Given the description of an element on the screen output the (x, y) to click on. 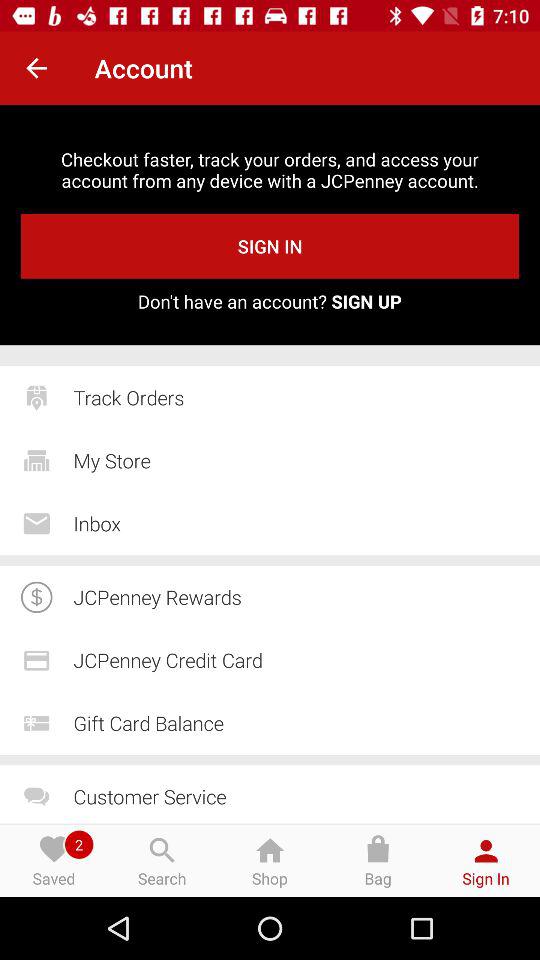
jump until don t have (270, 301)
